Given the description of an element on the screen output the (x, y) to click on. 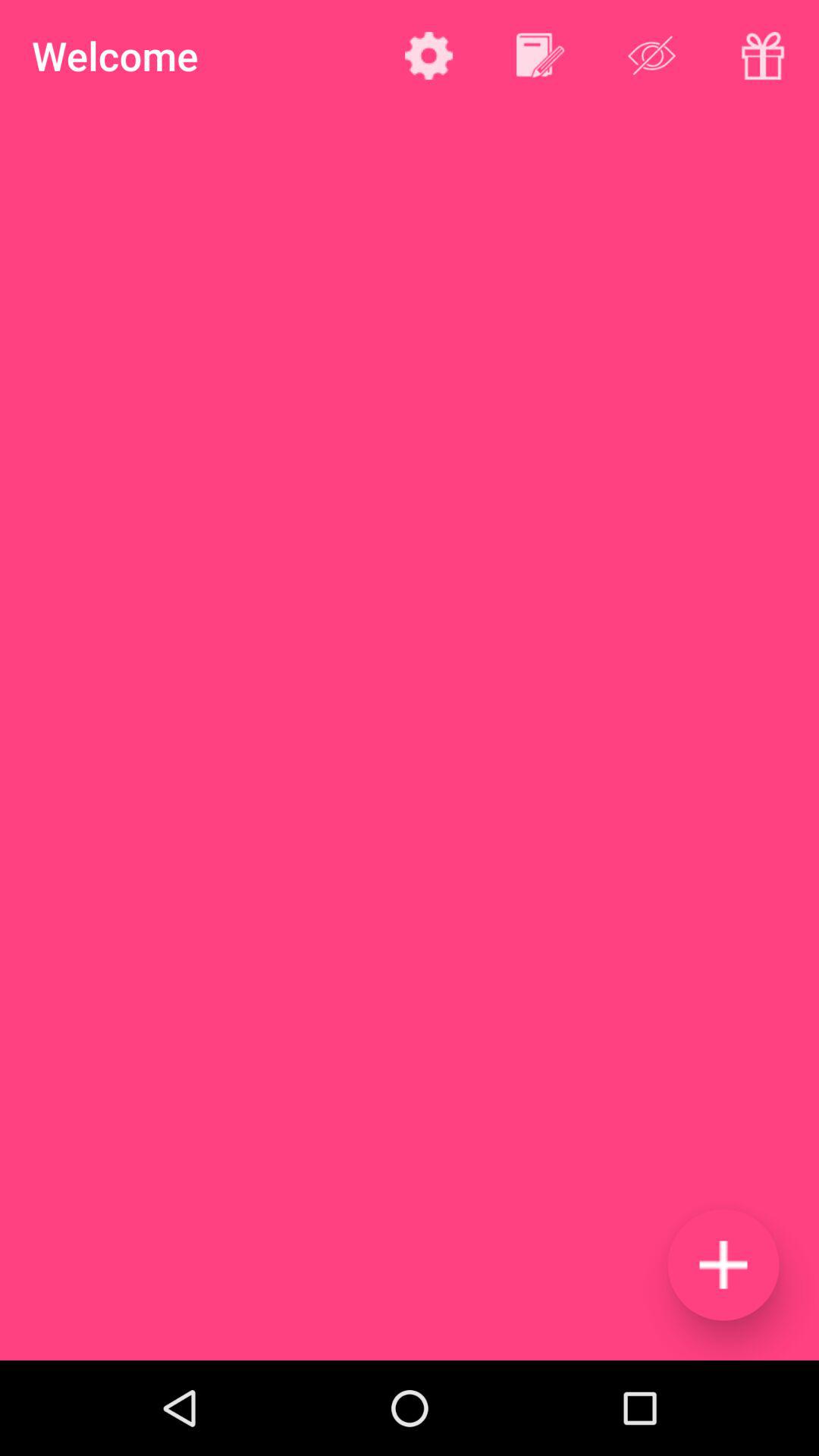
click the edit option (540, 55)
